Given the description of an element on the screen output the (x, y) to click on. 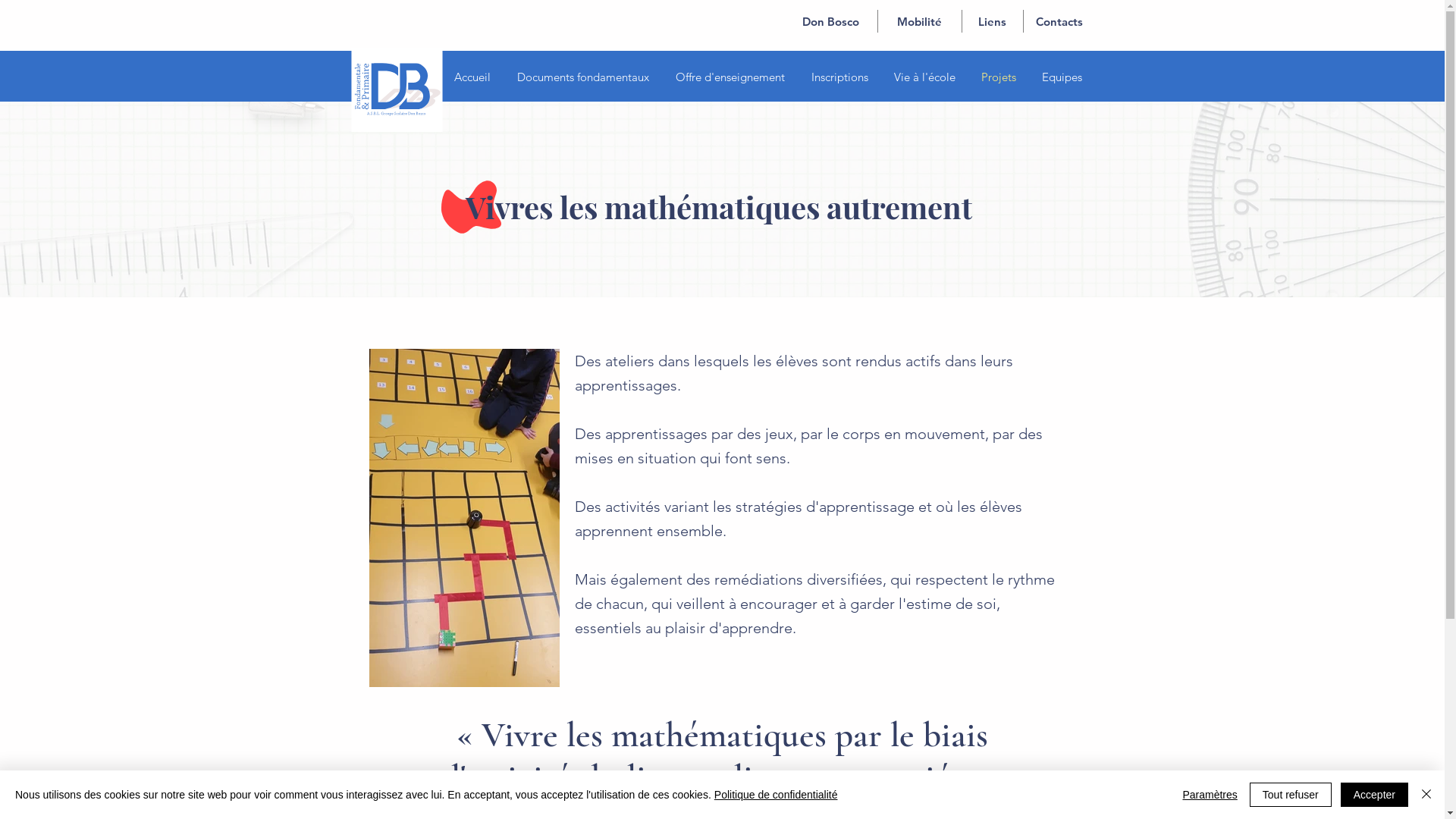
Inscriptions Element type: text (838, 77)
Don Bosco Element type: text (830, 21)
Contacts Element type: text (1059, 21)
Documents fondamentaux Element type: text (582, 77)
Offre d'enseignement Element type: text (730, 77)
Liens Element type: text (991, 21)
Tout refuser Element type: text (1290, 794)
Accueil Element type: text (472, 77)
Projets Element type: text (997, 77)
Accepter Element type: text (1374, 794)
